Given the description of an element on the screen output the (x, y) to click on. 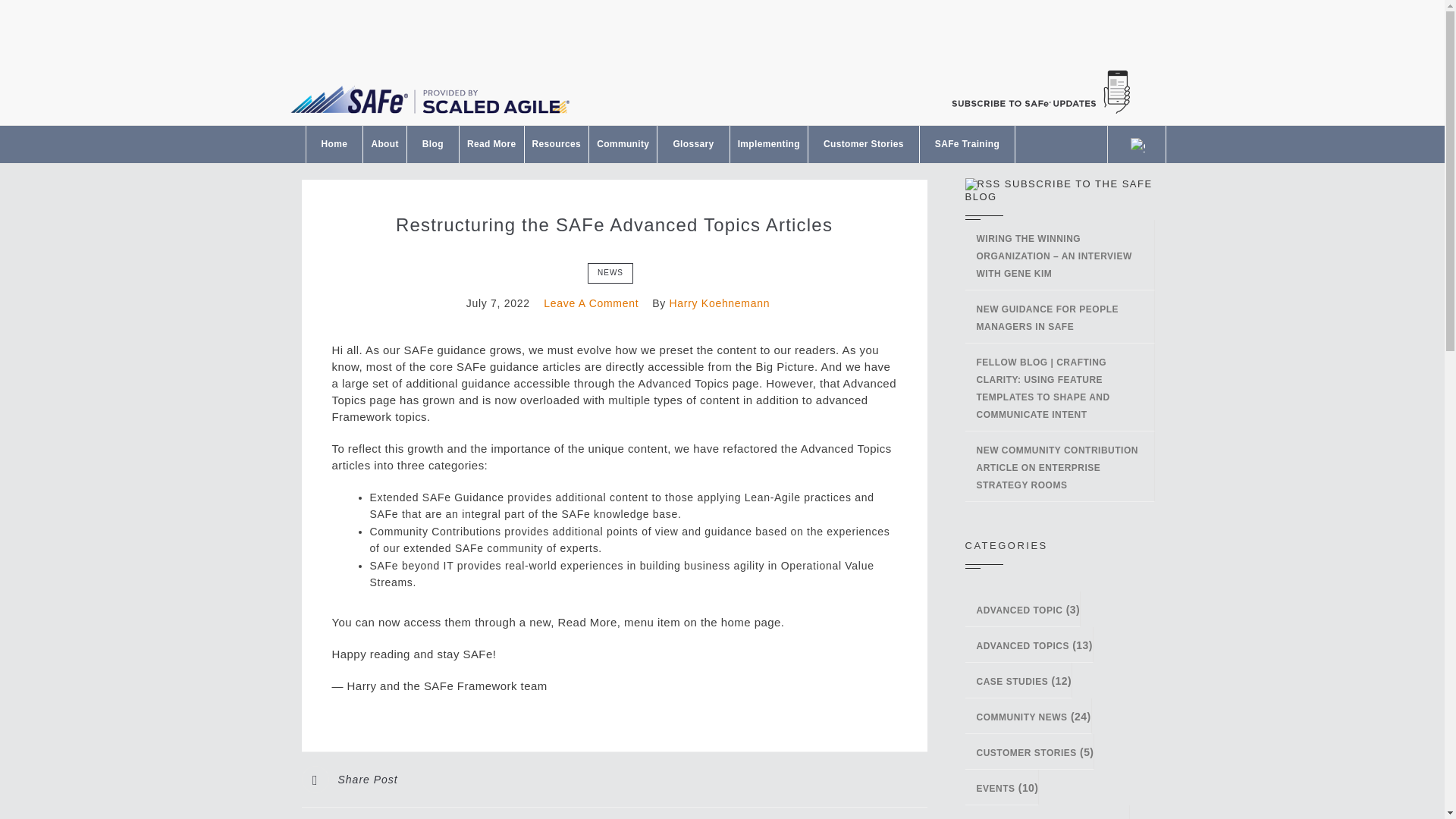
Blog (432, 144)
About (384, 144)
Resources (556, 144)
Community (622, 144)
SAFe Training (967, 144)
Read More (492, 144)
Customer Stories (863, 144)
Implementing (769, 144)
Home (333, 144)
Glossary (693, 144)
